Given the description of an element on the screen output the (x, y) to click on. 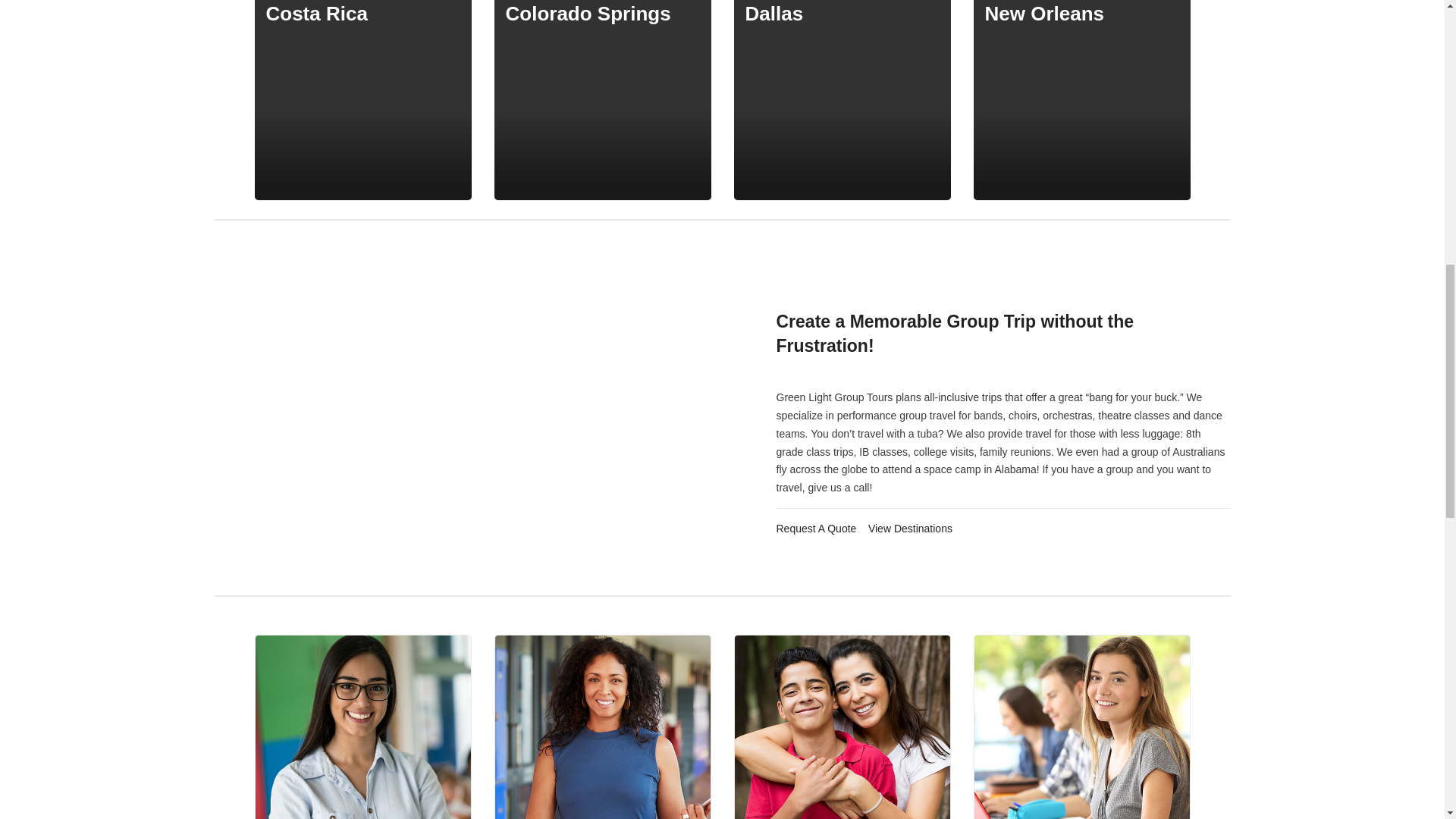
Request A Quote (816, 528)
View Destinations (909, 528)
